Given the description of an element on the screen output the (x, y) to click on. 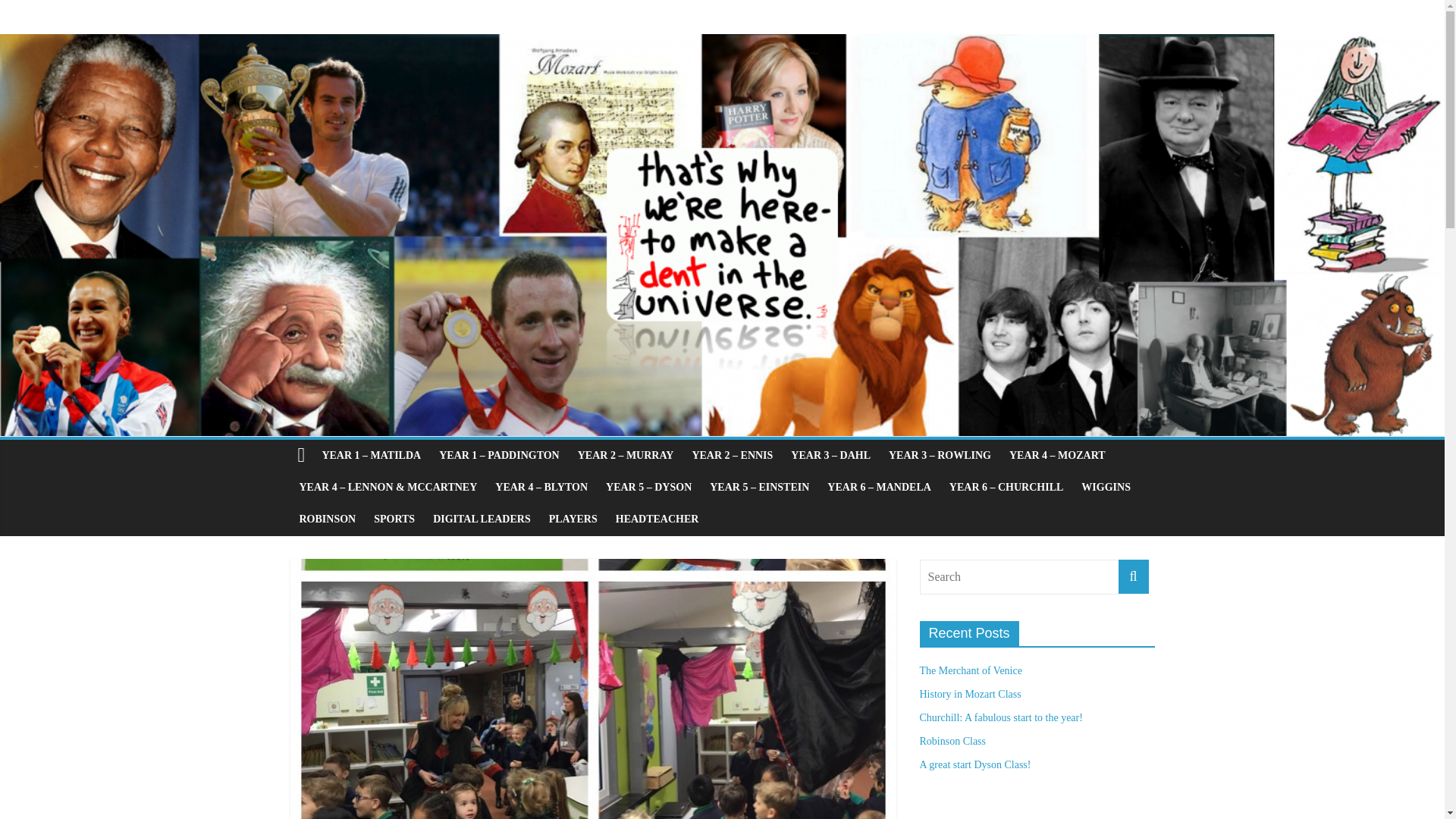
SPORTS (394, 519)
WIGGINS (1105, 487)
A great start Dyson Class! (974, 764)
Churchill: A fabulous start to the year! (999, 717)
The Merchant of Venice (970, 670)
HEADTEACHER (657, 519)
DIGITAL LEADERS (481, 519)
ROBINSON (327, 519)
Robinson Class (951, 740)
History in Mozart Class (969, 694)
